Given the description of an element on the screen output the (x, y) to click on. 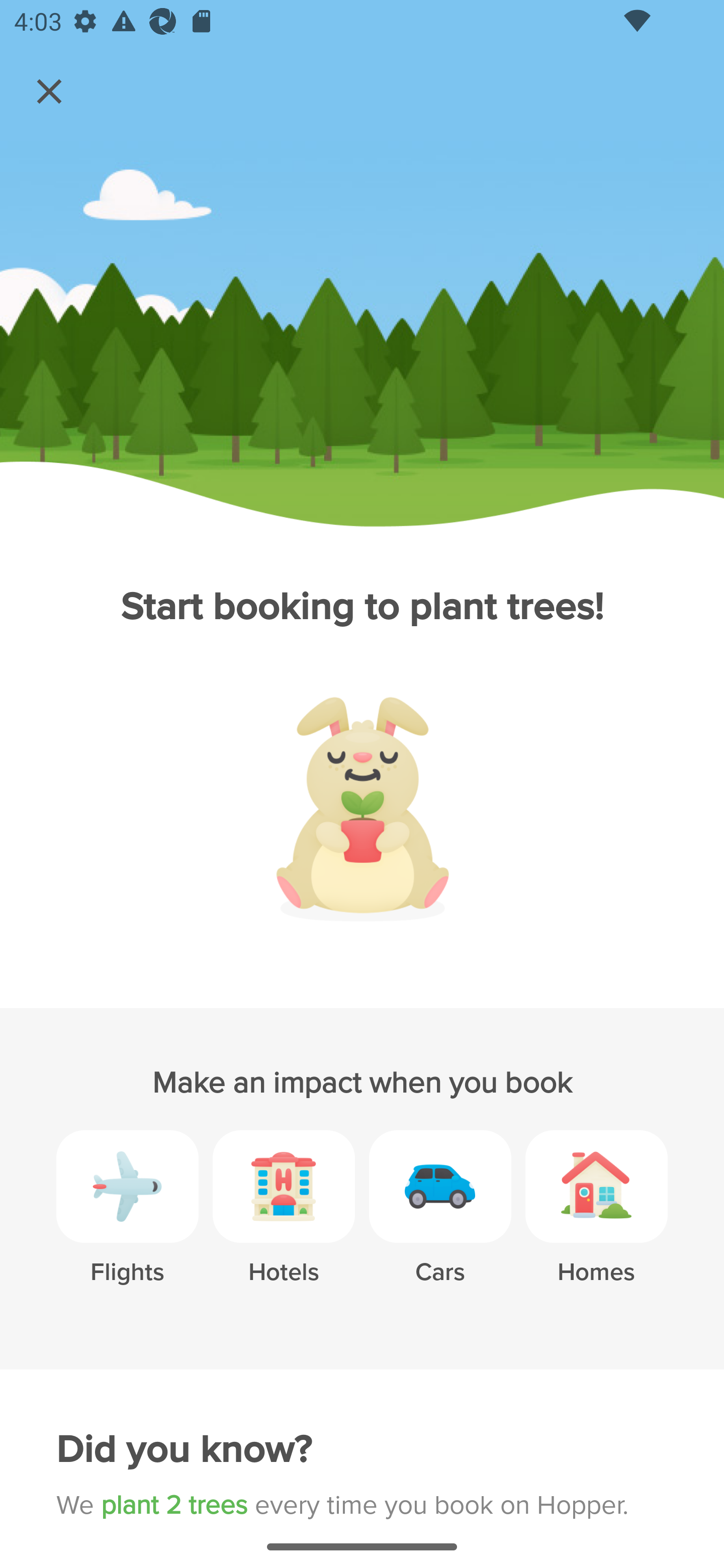
Navigate up (49, 91)
Flights (127, 1221)
Hotels (283, 1221)
Cars (440, 1221)
Homes (596, 1221)
